Given the description of an element on the screen output the (x, y) to click on. 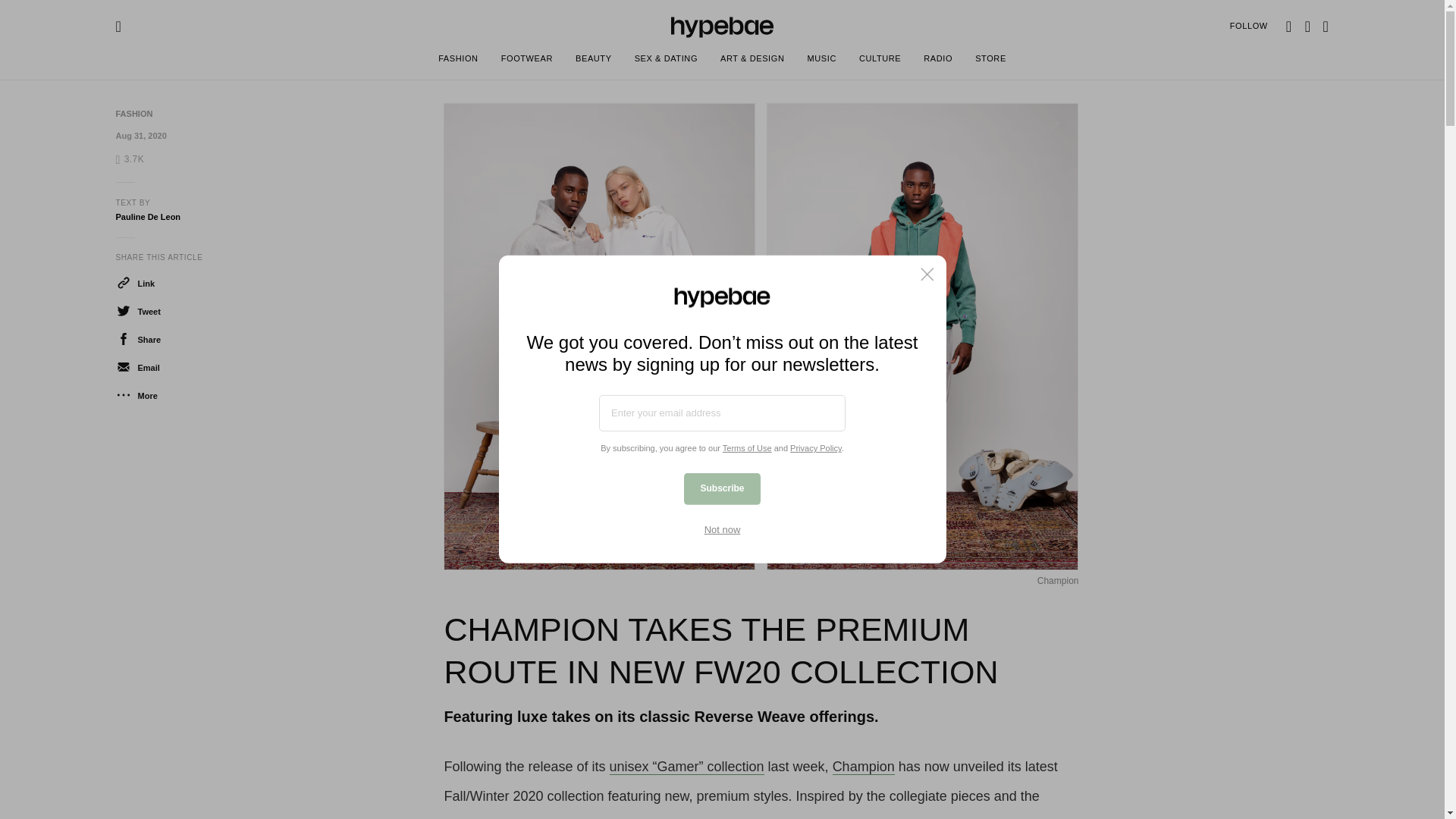
MUSIC (820, 60)
FOLLOW (1248, 25)
FASHION (133, 112)
Champion (863, 766)
Fashion (133, 112)
BEAUTY (593, 60)
Pauline De Leon (147, 216)
FOOTWEAR (526, 60)
FASHION (457, 60)
RADIO (937, 60)
